Given the description of an element on the screen output the (x, y) to click on. 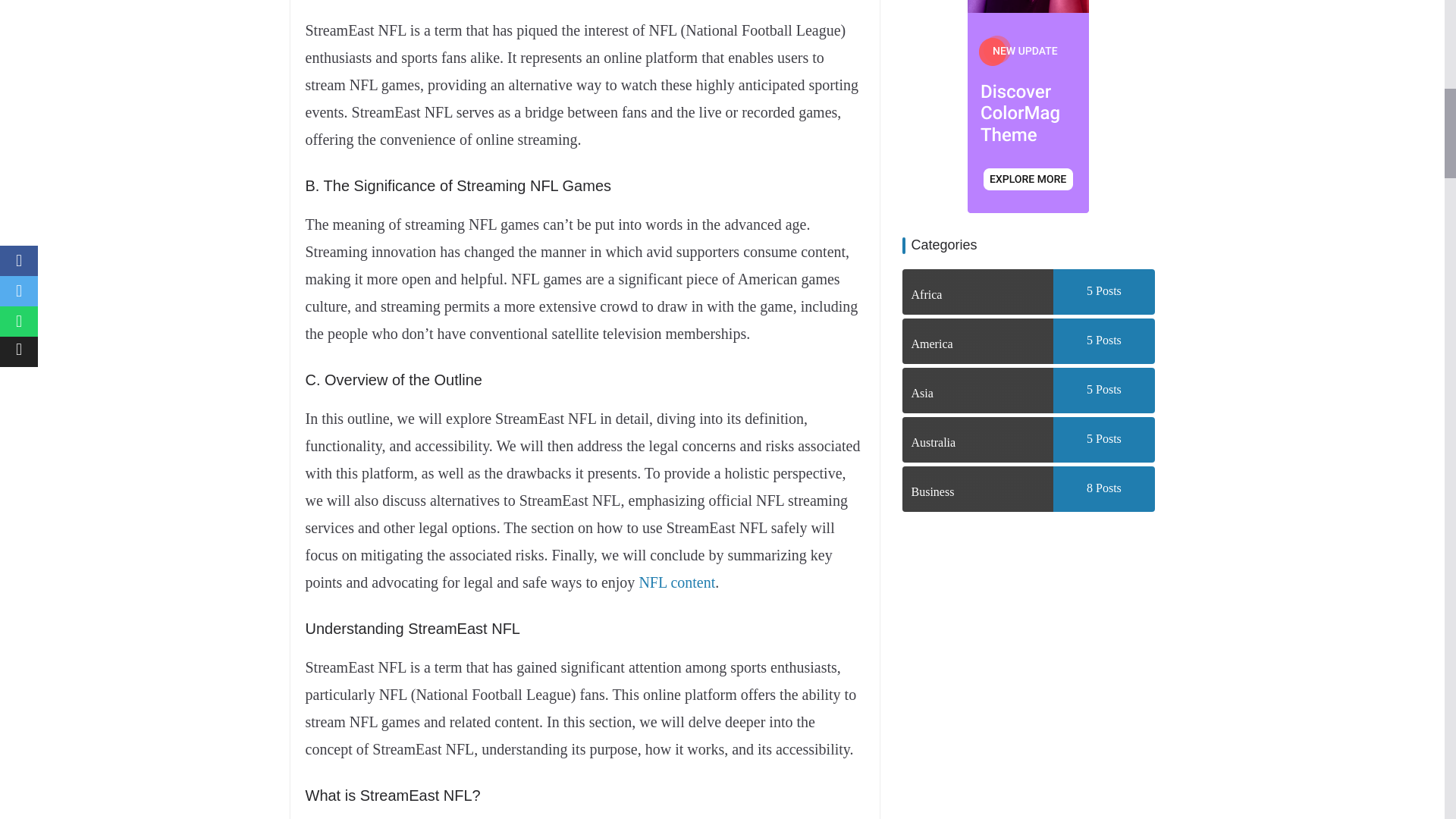
NFL content (676, 582)
